Given the description of an element on the screen output the (x, y) to click on. 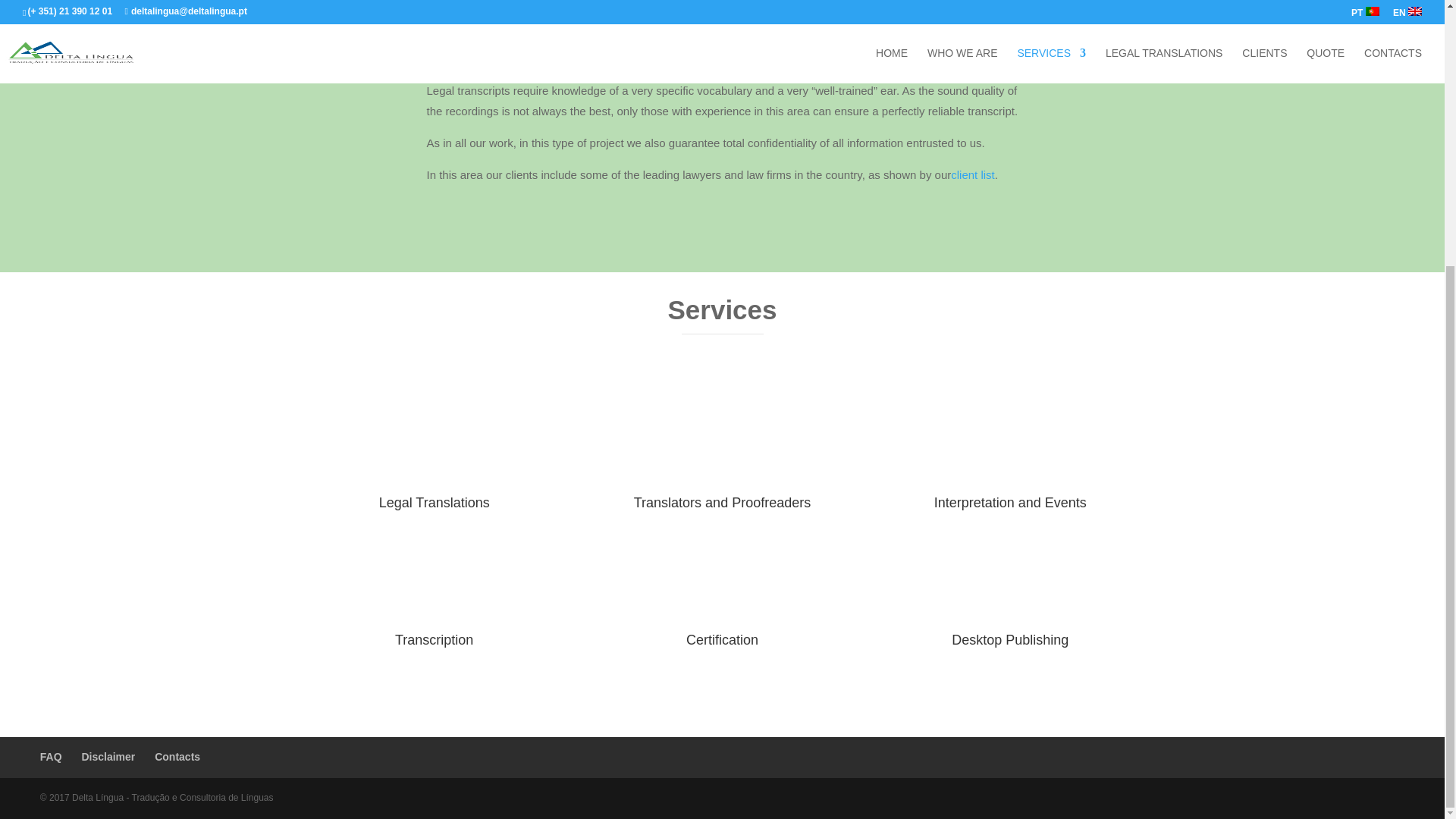
Legal Translations (433, 502)
Certification (721, 639)
Translators and Proofreaders (721, 502)
client list (972, 174)
Transcription (433, 639)
